Given the description of an element on the screen output the (x, y) to click on. 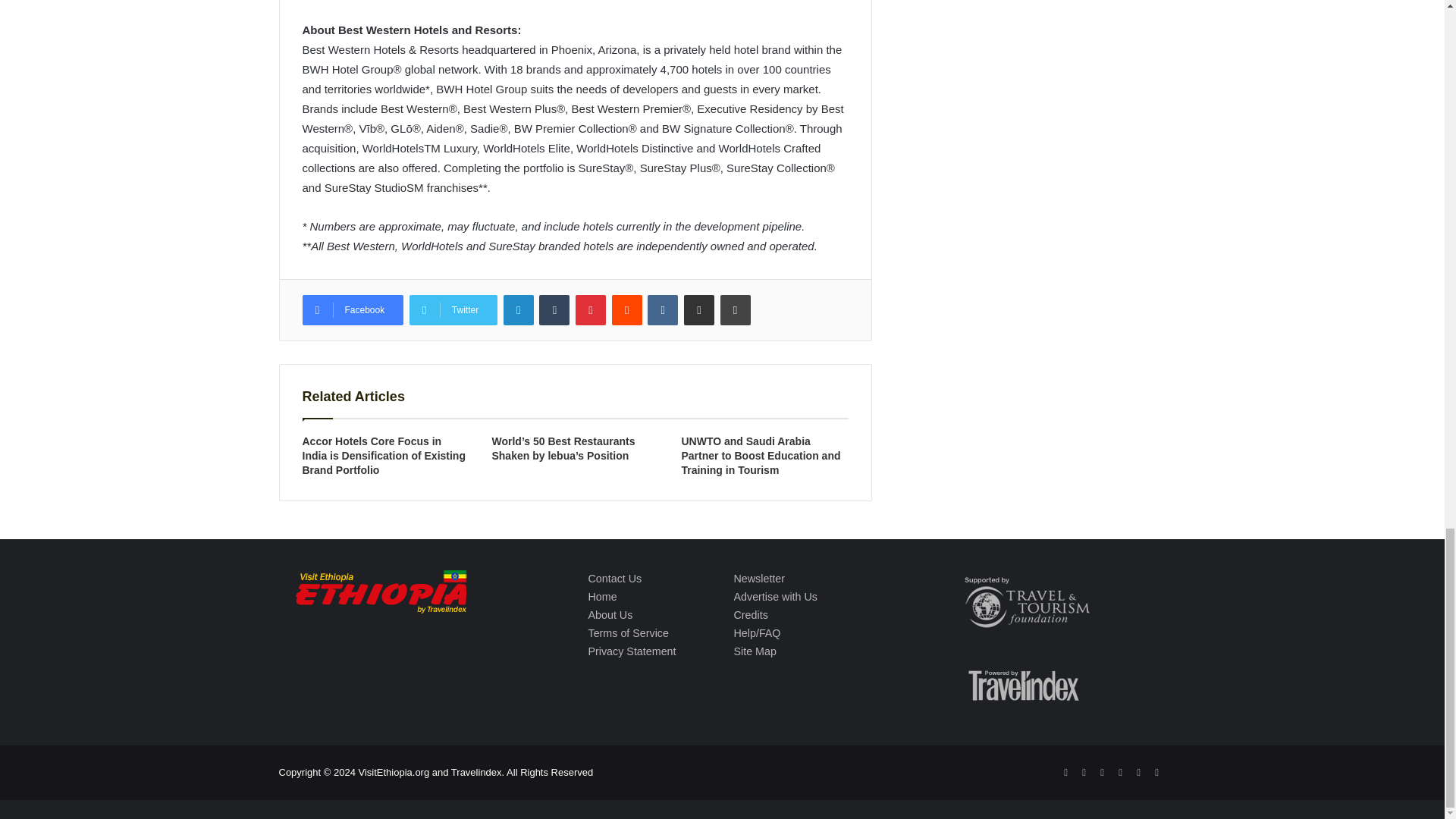
Tumblr (553, 309)
Share via Email (699, 309)
Pinterest (590, 309)
Twitter (453, 309)
VKontakte (662, 309)
Facebook (352, 309)
Reddit (626, 309)
Print (735, 309)
LinkedIn (518, 309)
